Given the description of an element on the screen output the (x, y) to click on. 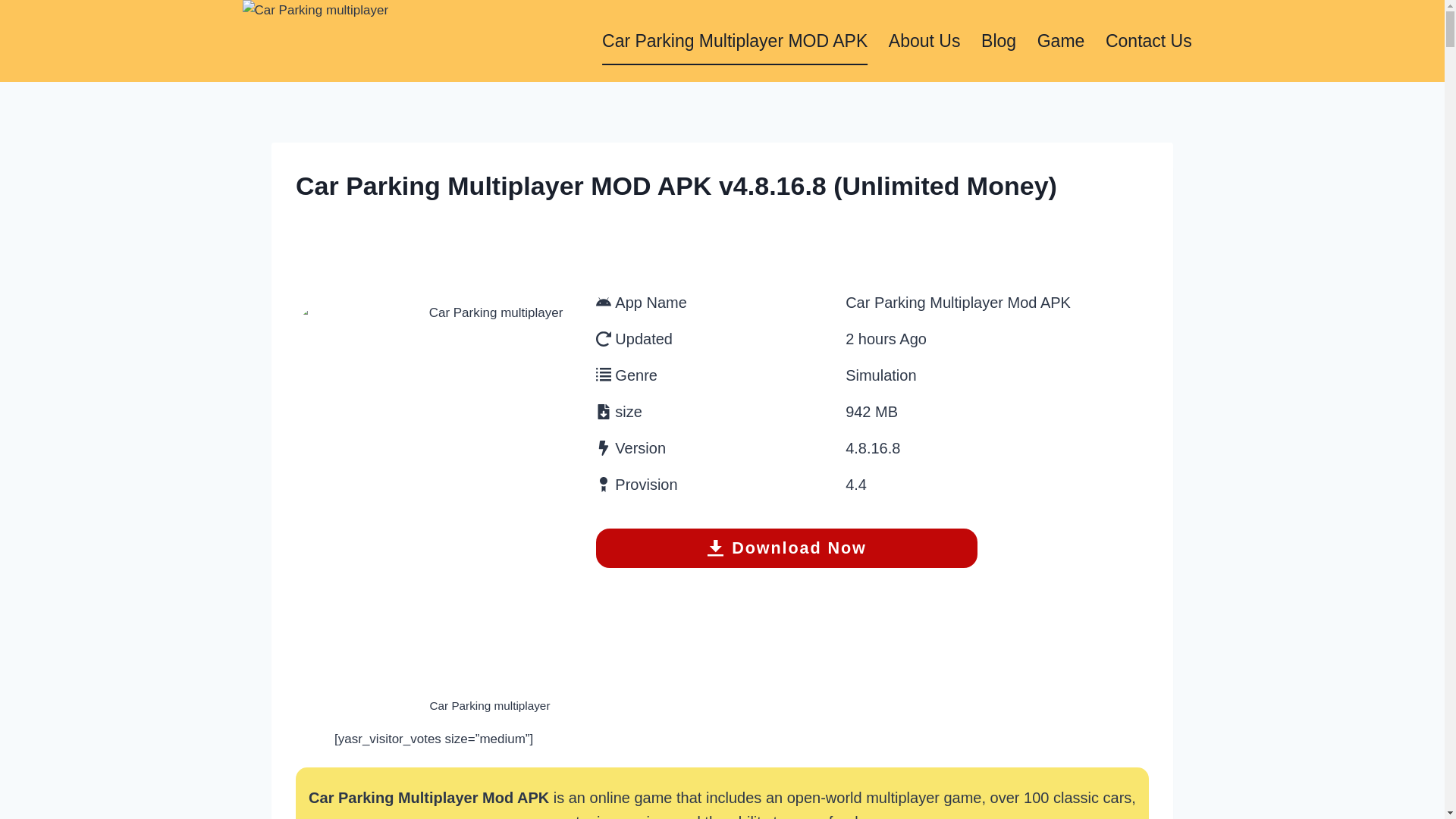
Car Parking Multiplayer MOD APK (734, 40)
Contact Us (1148, 40)
Download Now (785, 548)
About Us (924, 40)
Game (1060, 40)
Blog (998, 40)
